Given the description of an element on the screen output the (x, y) to click on. 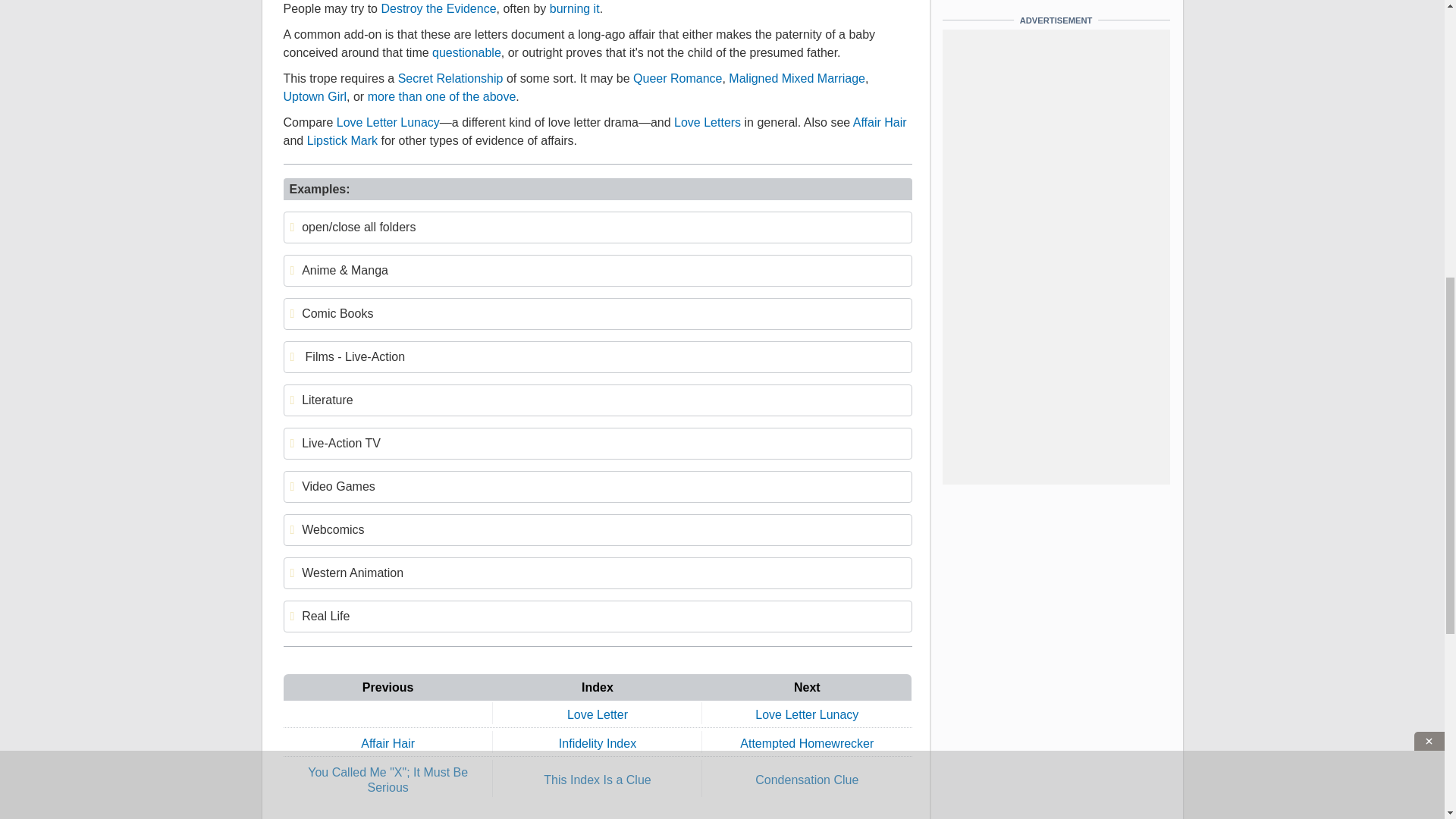
3rd party ad content (722, 172)
